Given the description of an element on the screen output the (x, y) to click on. 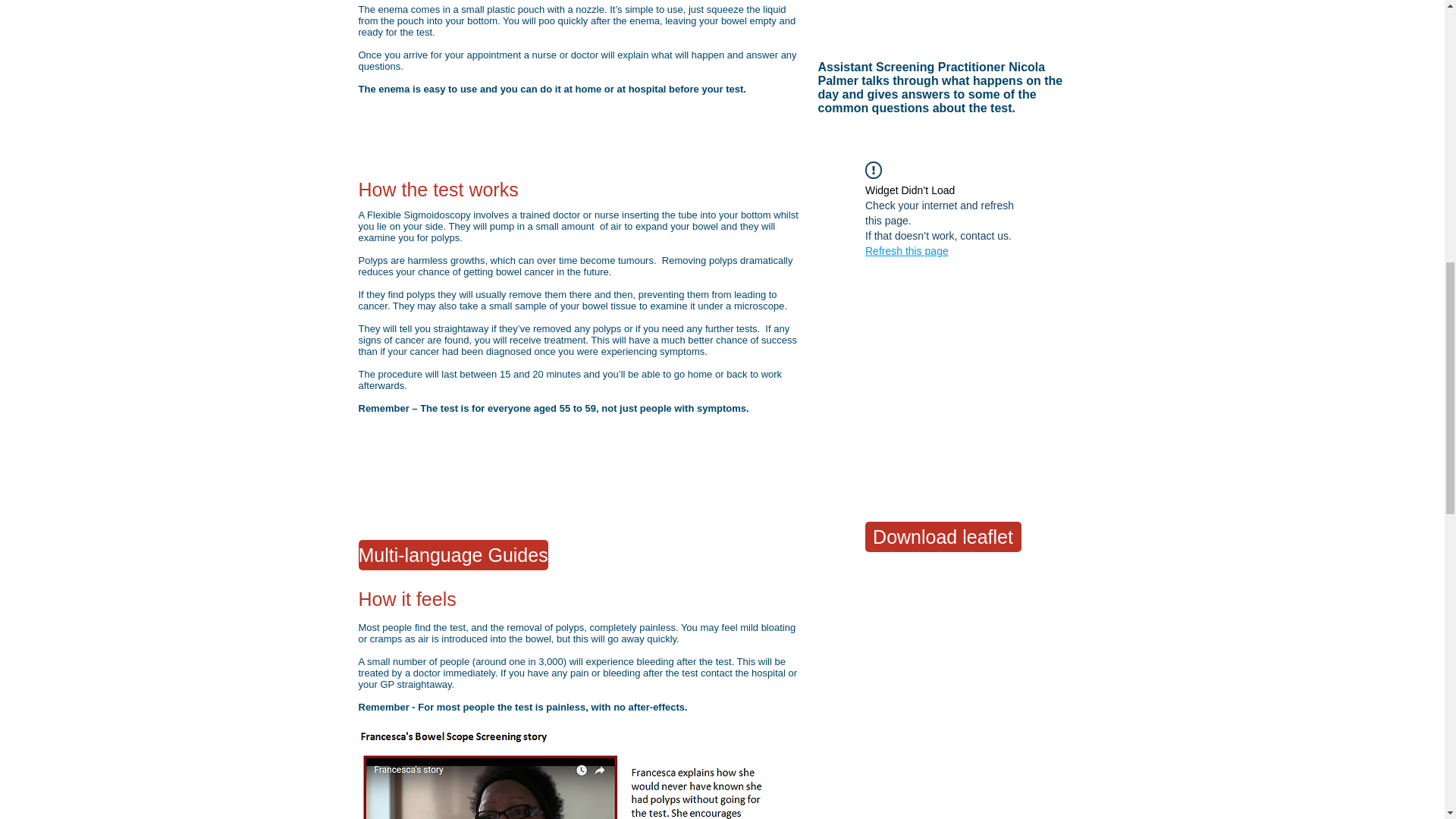
Refresh this page (906, 250)
Download leaflet (942, 536)
Multi-language Guides (452, 554)
External YouTube (954, 13)
